Given the description of an element on the screen output the (x, y) to click on. 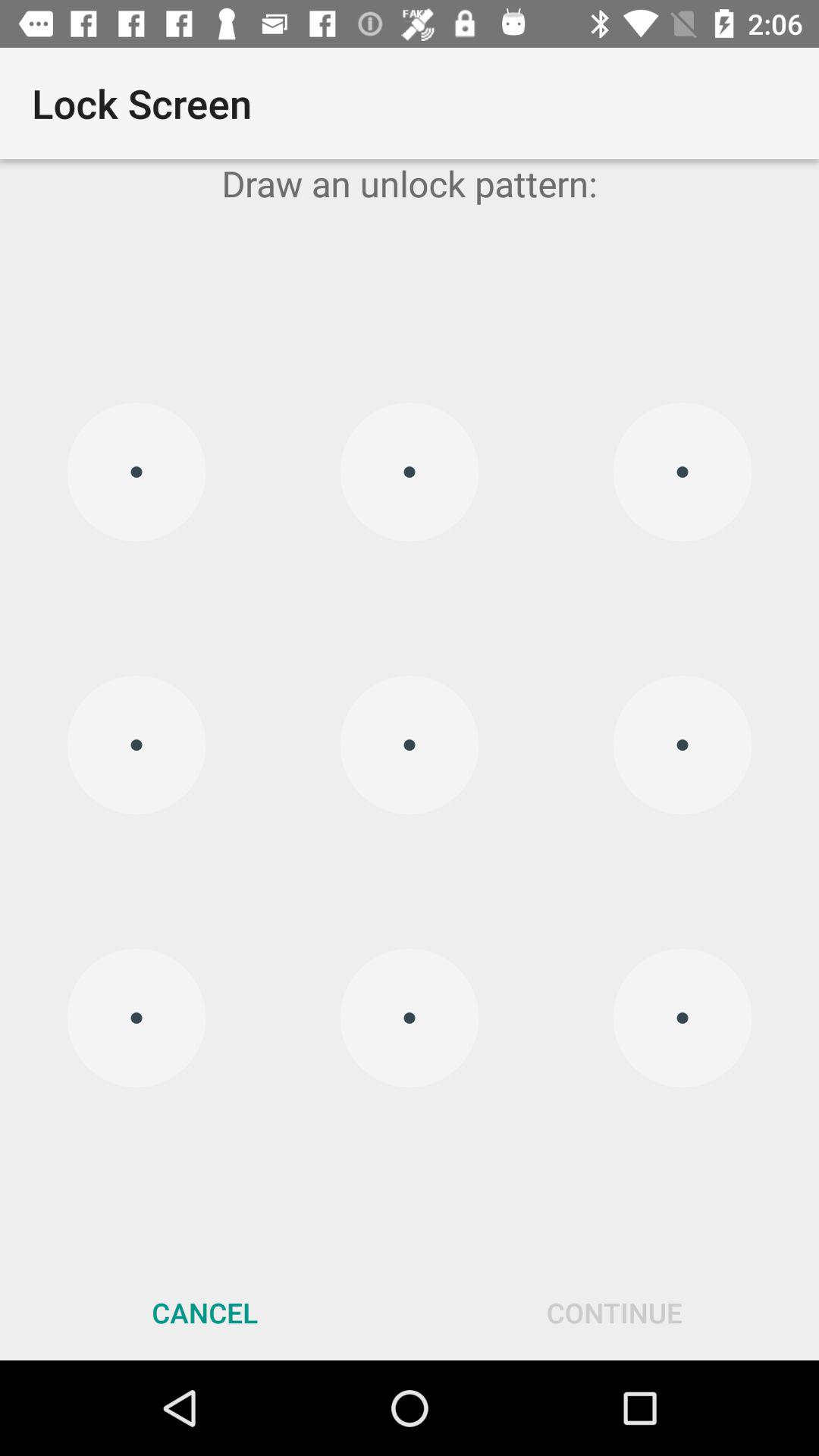
turn on icon at the bottom right corner (614, 1312)
